Given the description of an element on the screen output the (x, y) to click on. 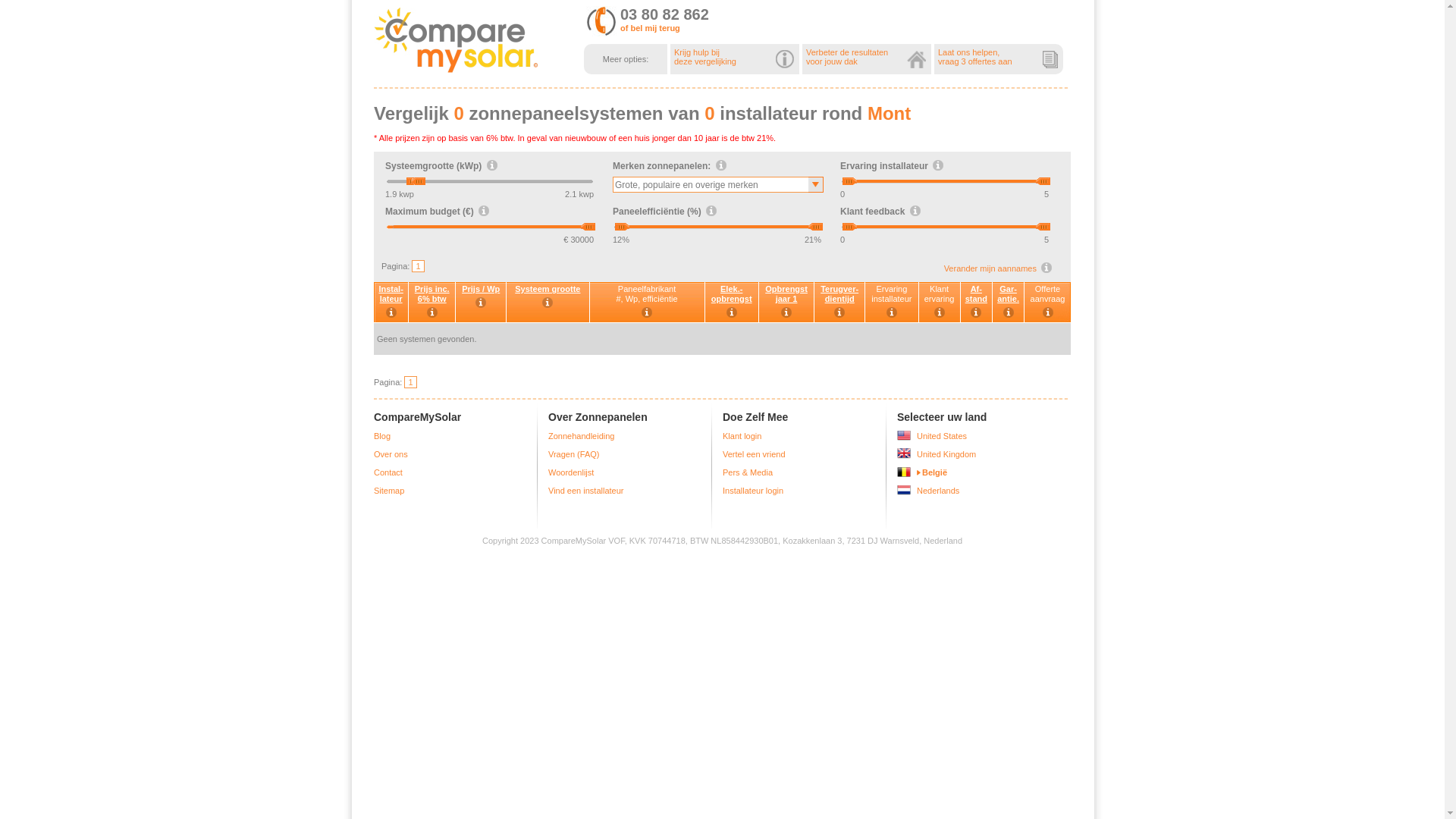
Prijs / Wp Element type: text (480, 302)
Verbeter de resultaten
voor jouw dak Element type: text (866, 56)
of bel mij terug Element type: text (650, 27)
Installateur login Element type: text (752, 490)
Zonnehandleiding Element type: text (581, 435)
1 Element type: text (417, 266)
Vind een installateur Element type: text (585, 490)
Opbrengst
jaar 1 Element type: text (786, 302)
Af-
stand Element type: text (976, 302)
Krijg hulp bij
deze vergelijking Element type: text (734, 56)
Elek.-
opbrengst Element type: text (732, 302)
United States Element type: text (941, 435)
United Kingdom Element type: text (945, 453)
Gar-
antie. Element type: text (1008, 302)
Systeem grootte Element type: text (547, 302)
Woordenlijst Element type: text (570, 471)
Over ons Element type: text (390, 453)
Blog Element type: text (381, 435)
Laat ons helpen,
vraag 3 offertes aan Element type: text (998, 56)
Vragen (FAQ) Element type: text (573, 453)
Sitemap Element type: text (388, 490)
Vertel een vriend Element type: text (753, 453)
Contact Element type: text (387, 471)
Nederlands Element type: text (937, 490)
Pers & Media Element type: text (747, 471)
Verander mijn aannames Element type: text (990, 268)
1 Element type: text (410, 382)
Klant login Element type: text (741, 435)
Prijs inc.
6% btw Element type: text (431, 302)
Terugver-
dientijd Element type: text (839, 302)
Instal-
lateur Element type: text (390, 302)
